Given the description of an element on the screen output the (x, y) to click on. 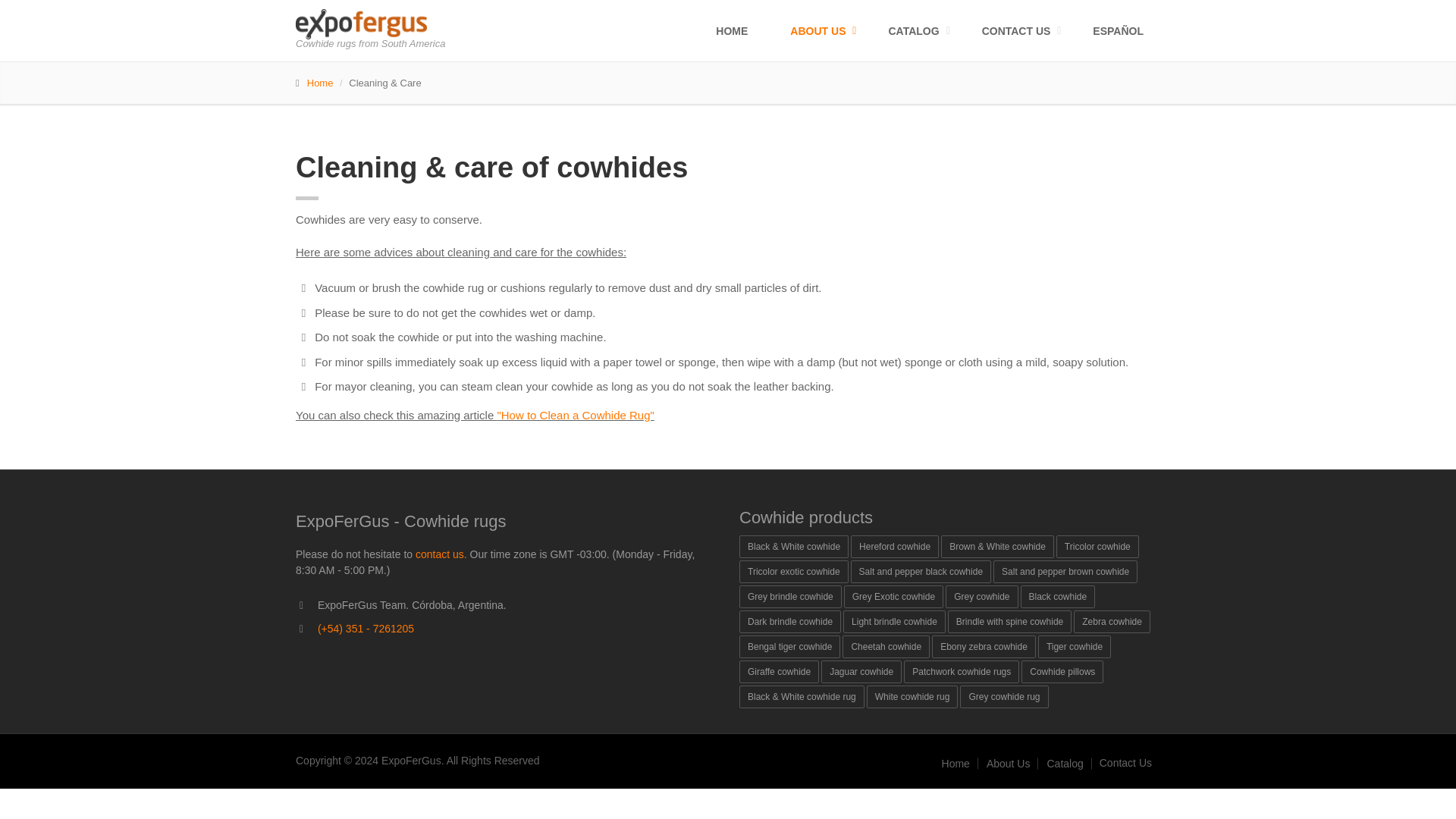
CONTACT US (1016, 30)
Light brindle cowhide (893, 621)
HOME (731, 30)
CATALOG (913, 30)
Tiger cowhide (1074, 646)
Home (320, 82)
Hereford cowhide (894, 546)
Grey brindle cowhide (790, 596)
Bengal tiger cowhide (789, 646)
Dark brindle cowhide (790, 621)
Grey Exotic cowhide (893, 596)
"How to Clean a Cowhide Rug" (574, 414)
ABOUT US (817, 30)
Grey cowhide (980, 596)
Tricolor cowhide (1097, 546)
